Given the description of an element on the screen output the (x, y) to click on. 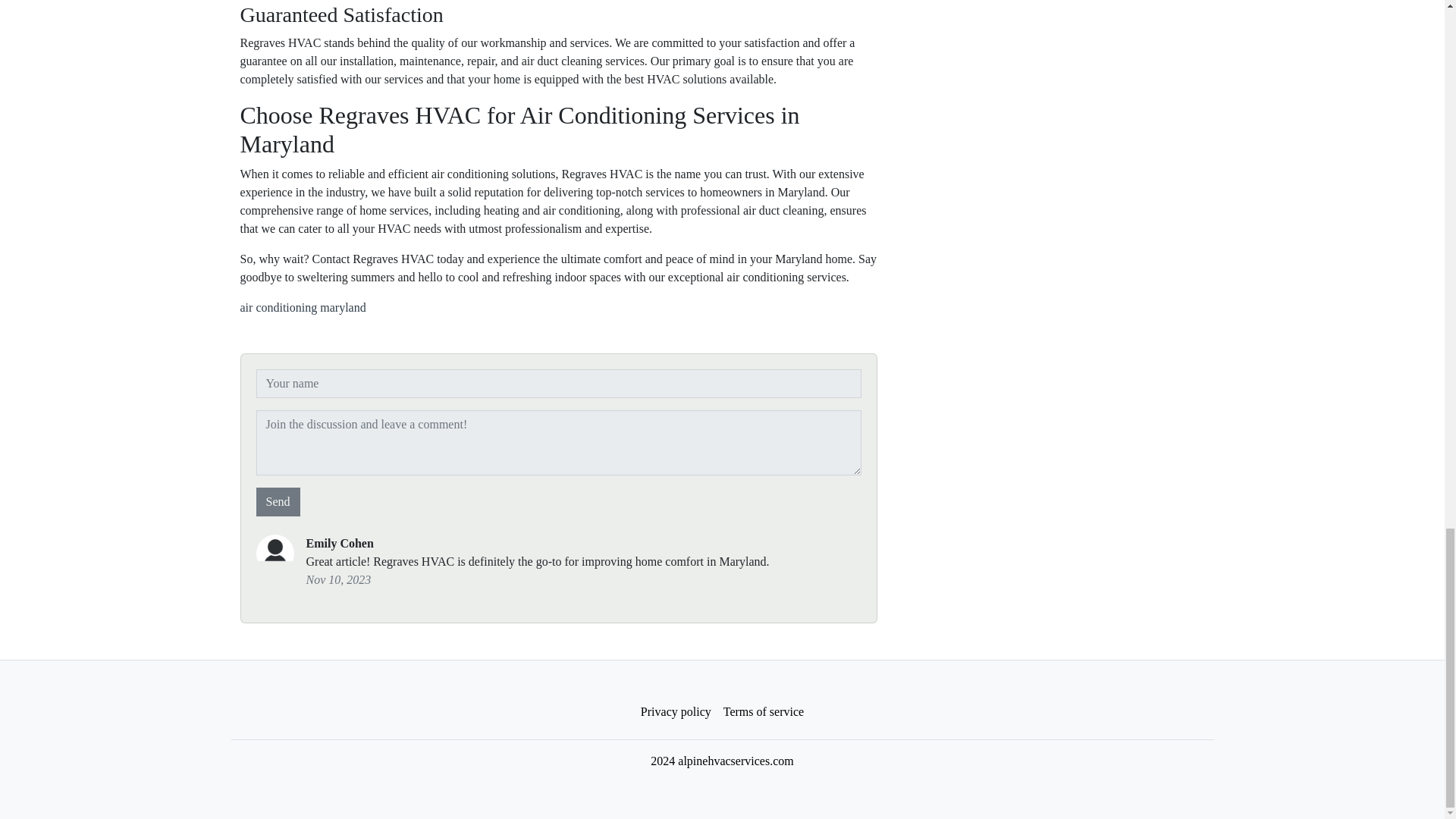
Send (277, 501)
air conditioning maryland (302, 307)
Send (277, 501)
Privacy policy (675, 711)
Terms of service (763, 711)
